Given the description of an element on the screen output the (x, y) to click on. 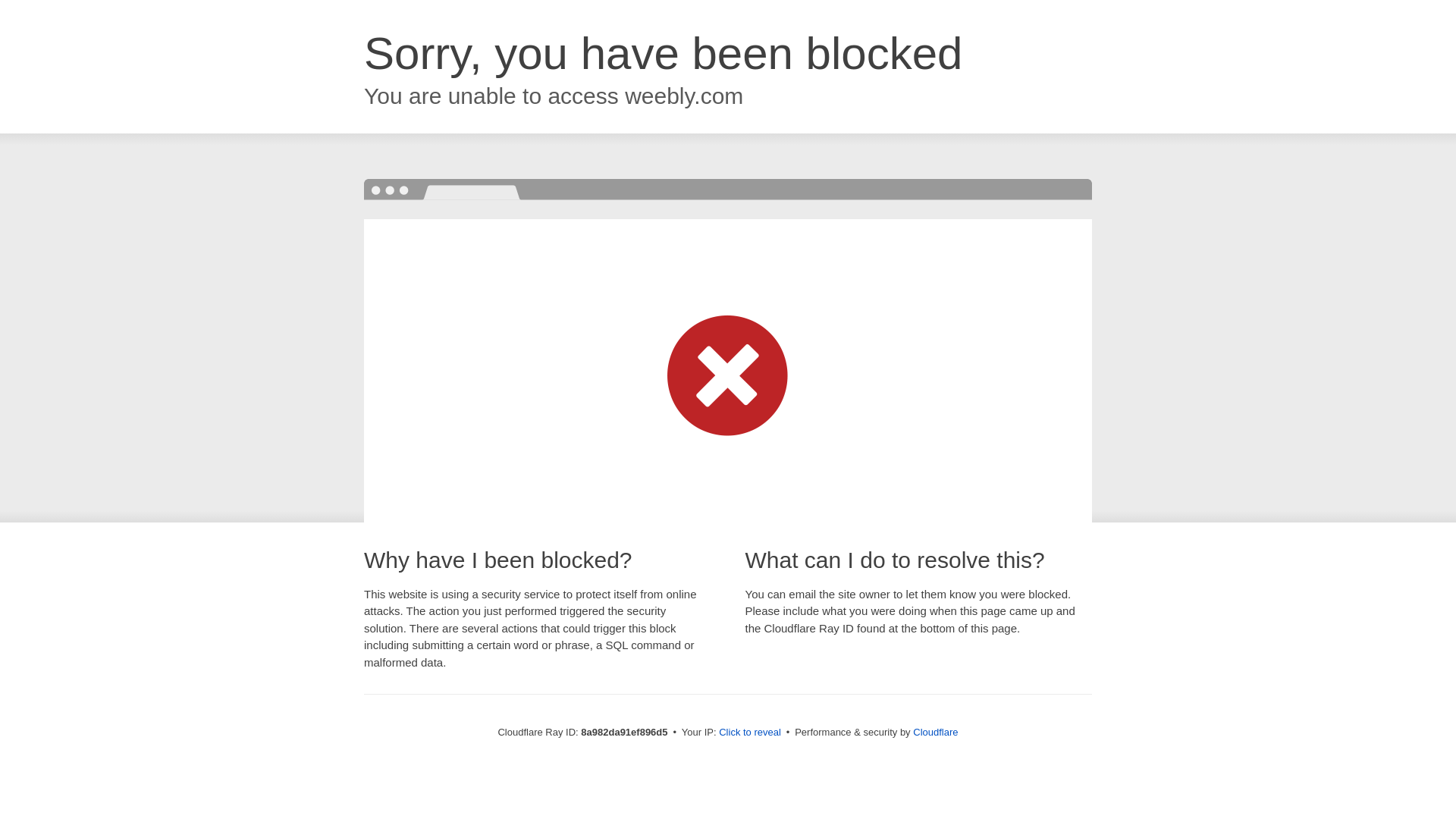
Cloudflare (935, 731)
Click to reveal (749, 732)
